Given the description of an element on the screen output the (x, y) to click on. 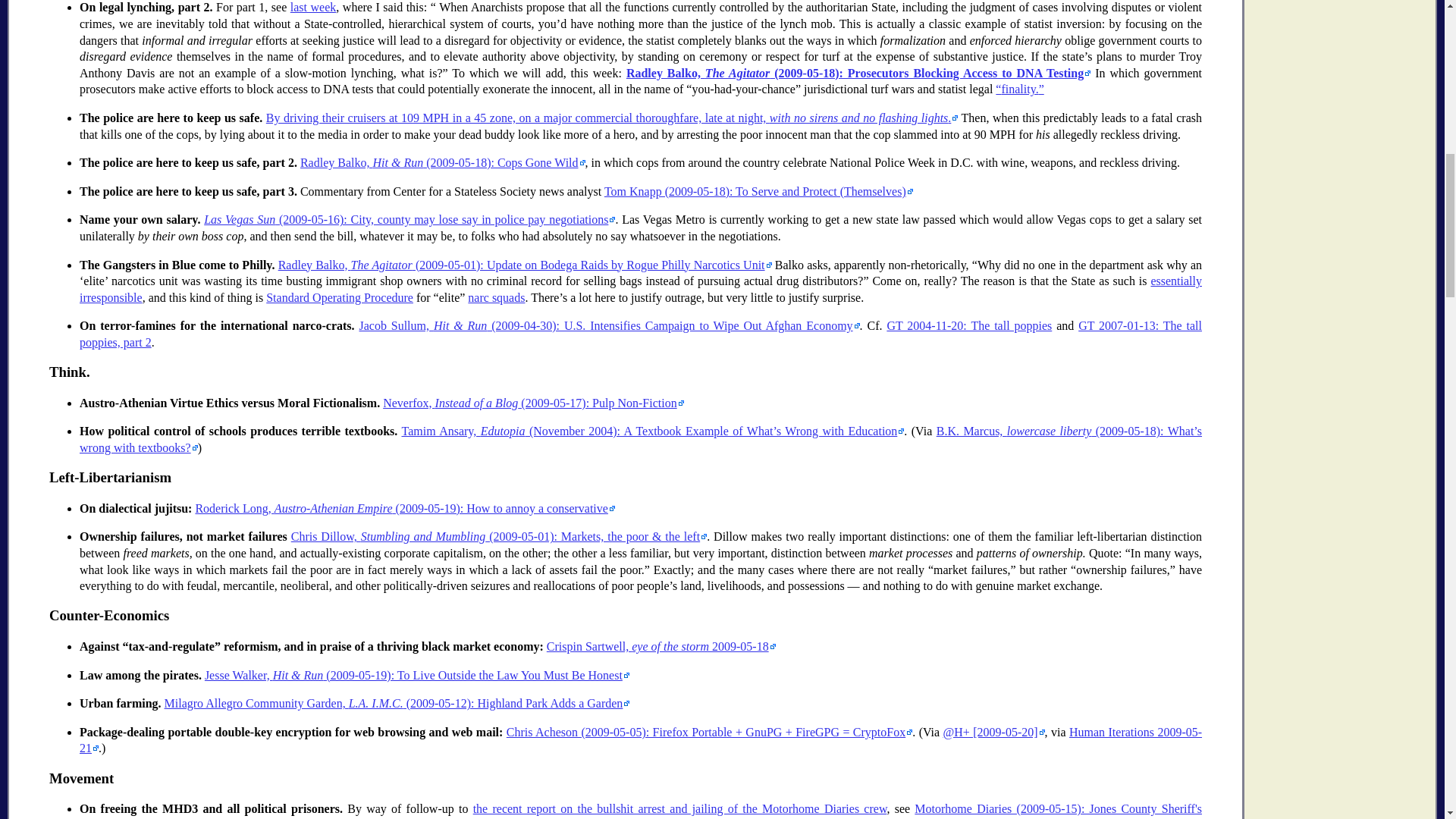
finality. (1019, 88)
last week (312, 6)
Standard Operating Procedure (339, 297)
narc squads (495, 297)
GT 2004-11-20: The tall poppies (968, 325)
Crispin Sartwell, eye of the storm 2009-05-18 (661, 645)
essentially irresponsible (641, 288)
GT 2007-01-13: The tall poppies, part 2 (641, 333)
